Given the description of an element on the screen output the (x, y) to click on. 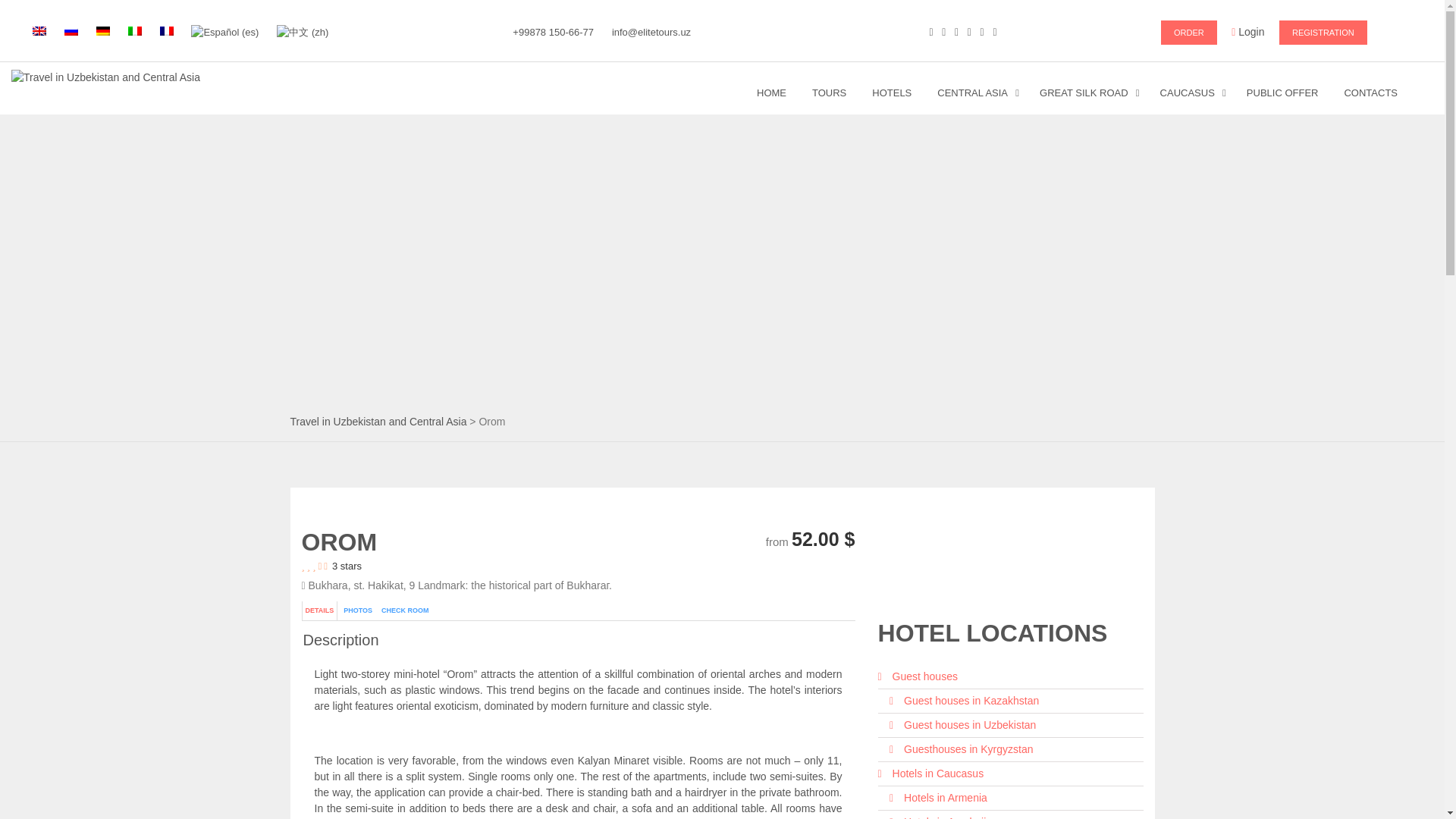
 Login (1247, 31)
Go to Travel in Uzbekistan and Central Asia. (377, 421)
ORDER (1188, 32)
REGISTRATION (1323, 32)
